Given the description of an element on the screen output the (x, y) to click on. 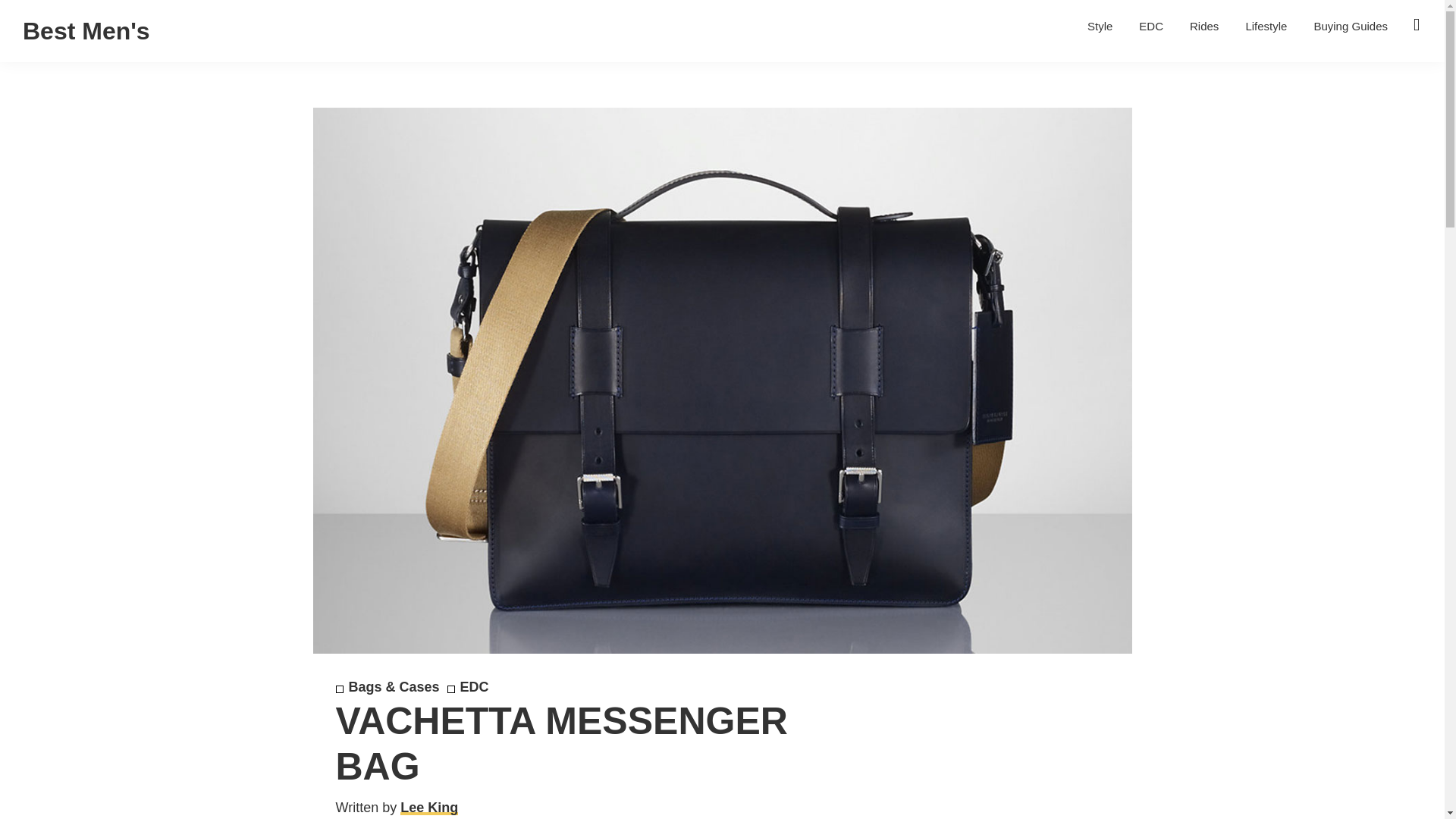
EDC (1150, 25)
EDC (467, 686)
Rides (1203, 25)
Advertisement (973, 760)
Lifestyle (1265, 25)
Buying Guides (1350, 25)
Lee King (429, 807)
Best Men's (86, 31)
Style (1099, 25)
